Given the description of an element on the screen output the (x, y) to click on. 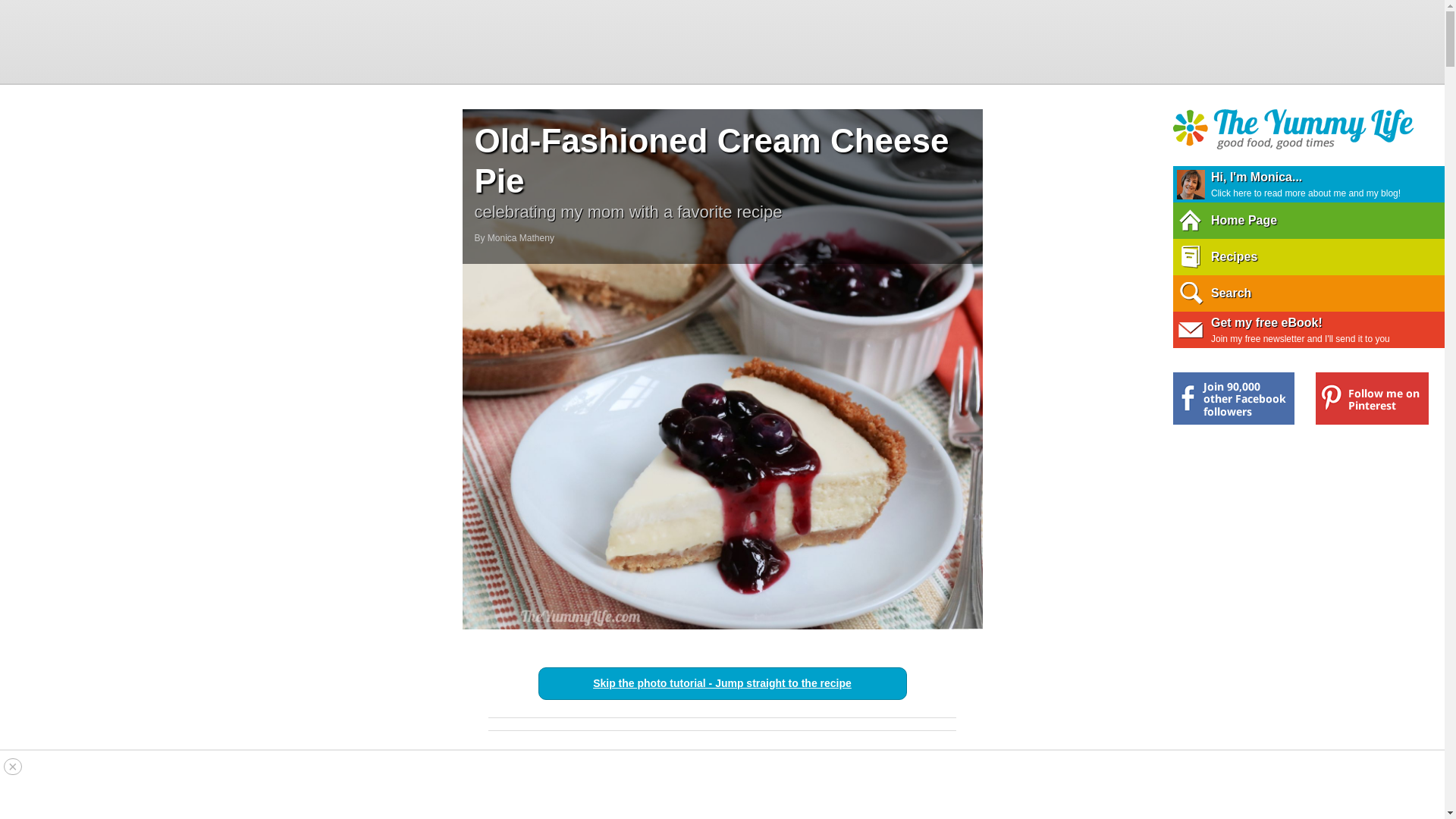
Monica Matheny (520, 237)
Skip the photo tutorial - Jump straight to the recipe (721, 683)
